Given the description of an element on the screen output the (x, y) to click on. 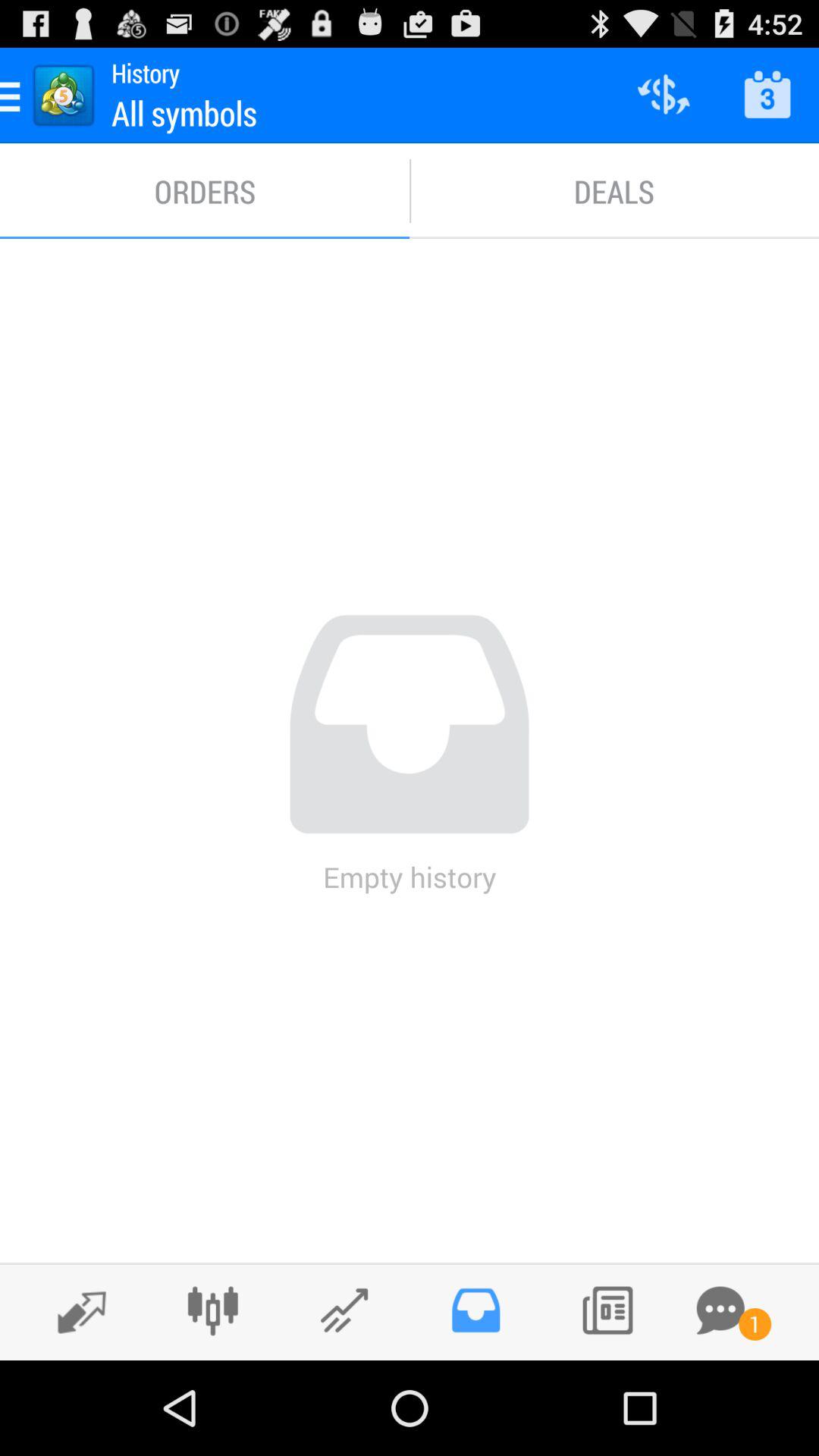
forward option (73, 1311)
